Given the description of an element on the screen output the (x, y) to click on. 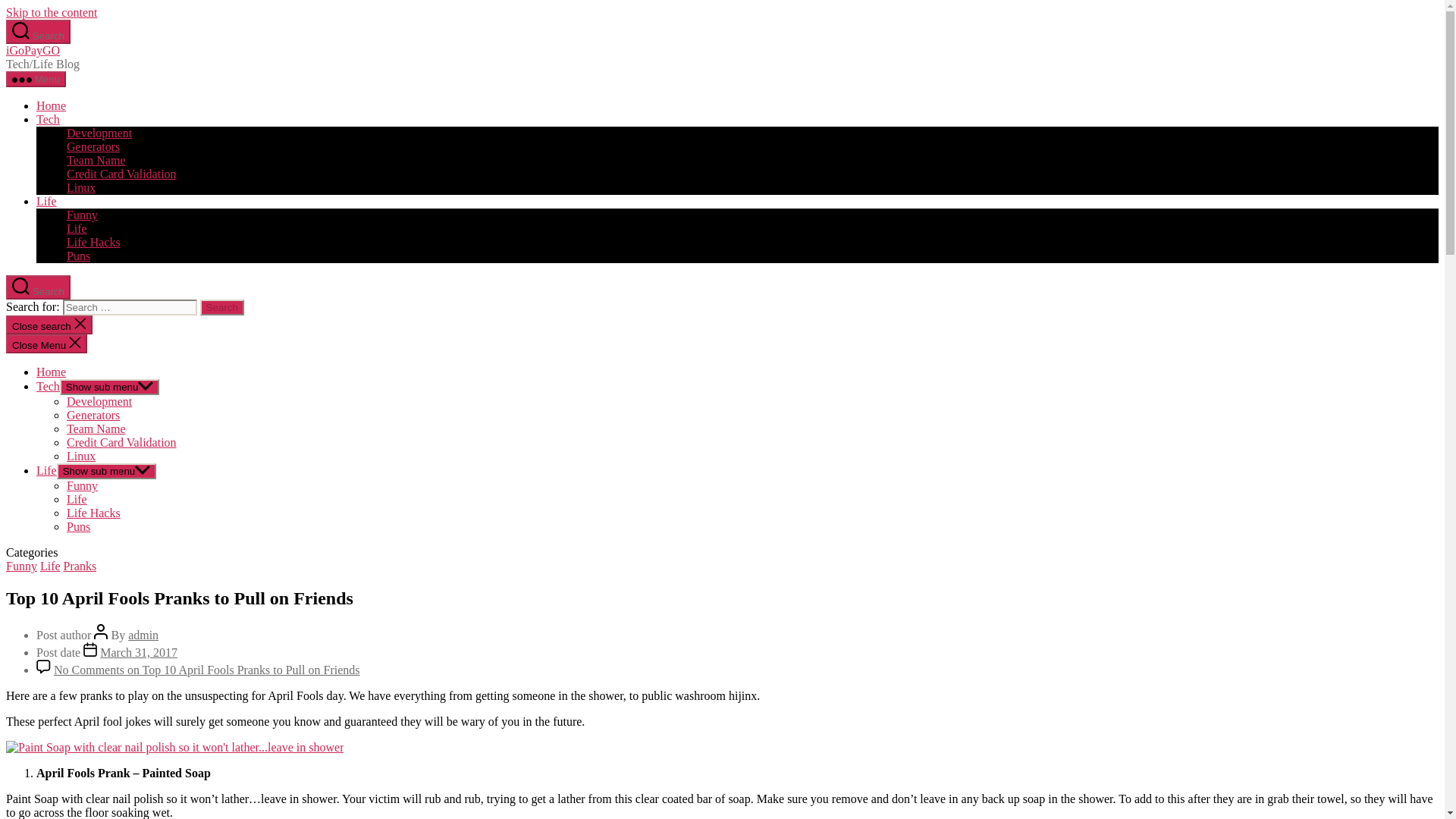
Life (46, 201)
Funny (81, 485)
Life Hacks (93, 512)
Life Hacks (93, 241)
Life (76, 228)
Search (37, 287)
Credit Card Validation (121, 441)
Funny (81, 214)
Home (50, 371)
Credit Card Validation (121, 173)
iGoPayGO (32, 50)
Development (99, 400)
Close search (49, 324)
Home (50, 105)
March 31, 2017 (138, 652)
